Given the description of an element on the screen output the (x, y) to click on. 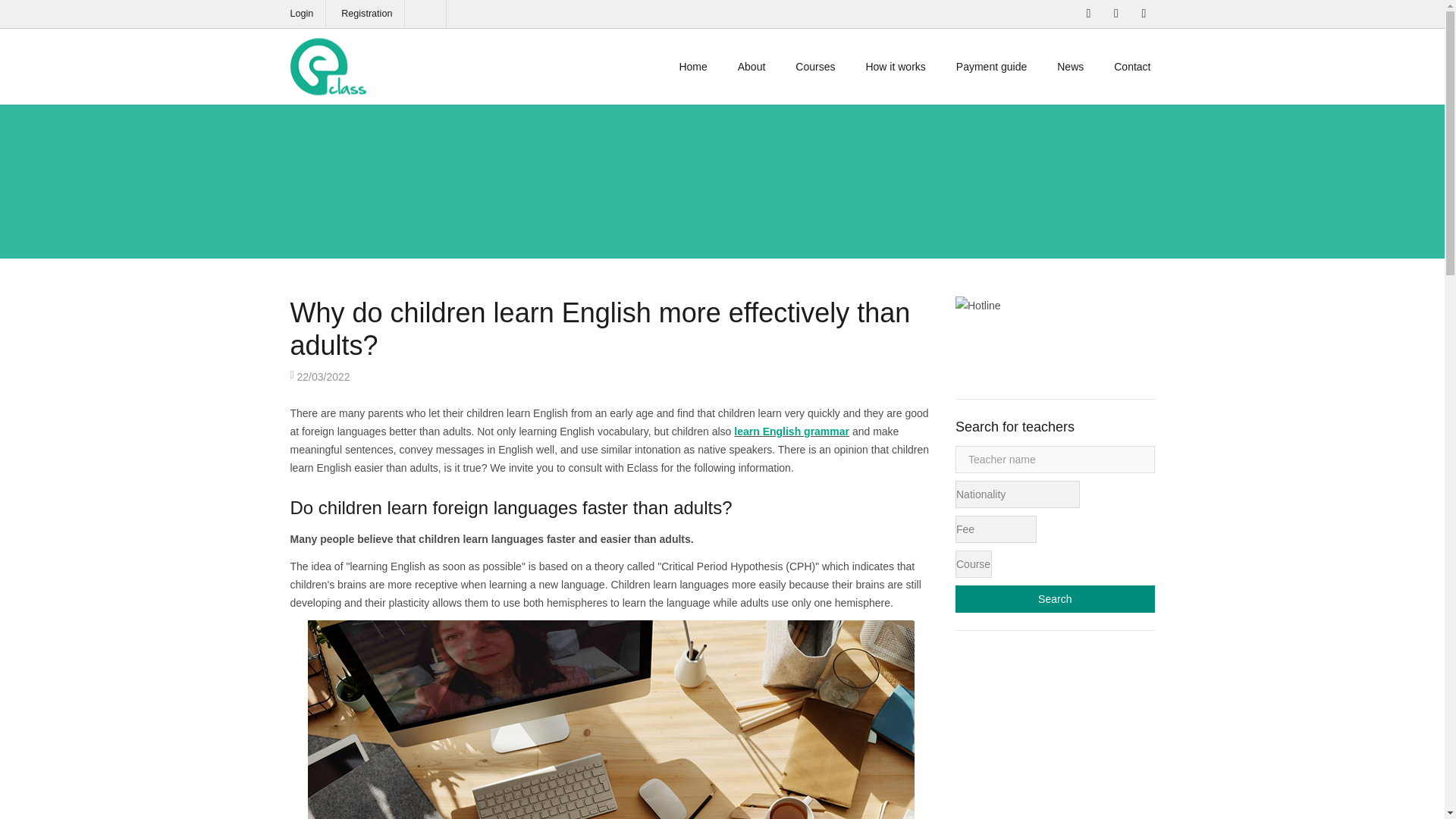
Search (1054, 598)
How it works (895, 66)
English (426, 13)
learn English grammar (790, 431)
Login (301, 13)
Courses (815, 66)
Payment guide (991, 66)
Search (1054, 598)
Registration (365, 13)
